Given the description of an element on the screen output the (x, y) to click on. 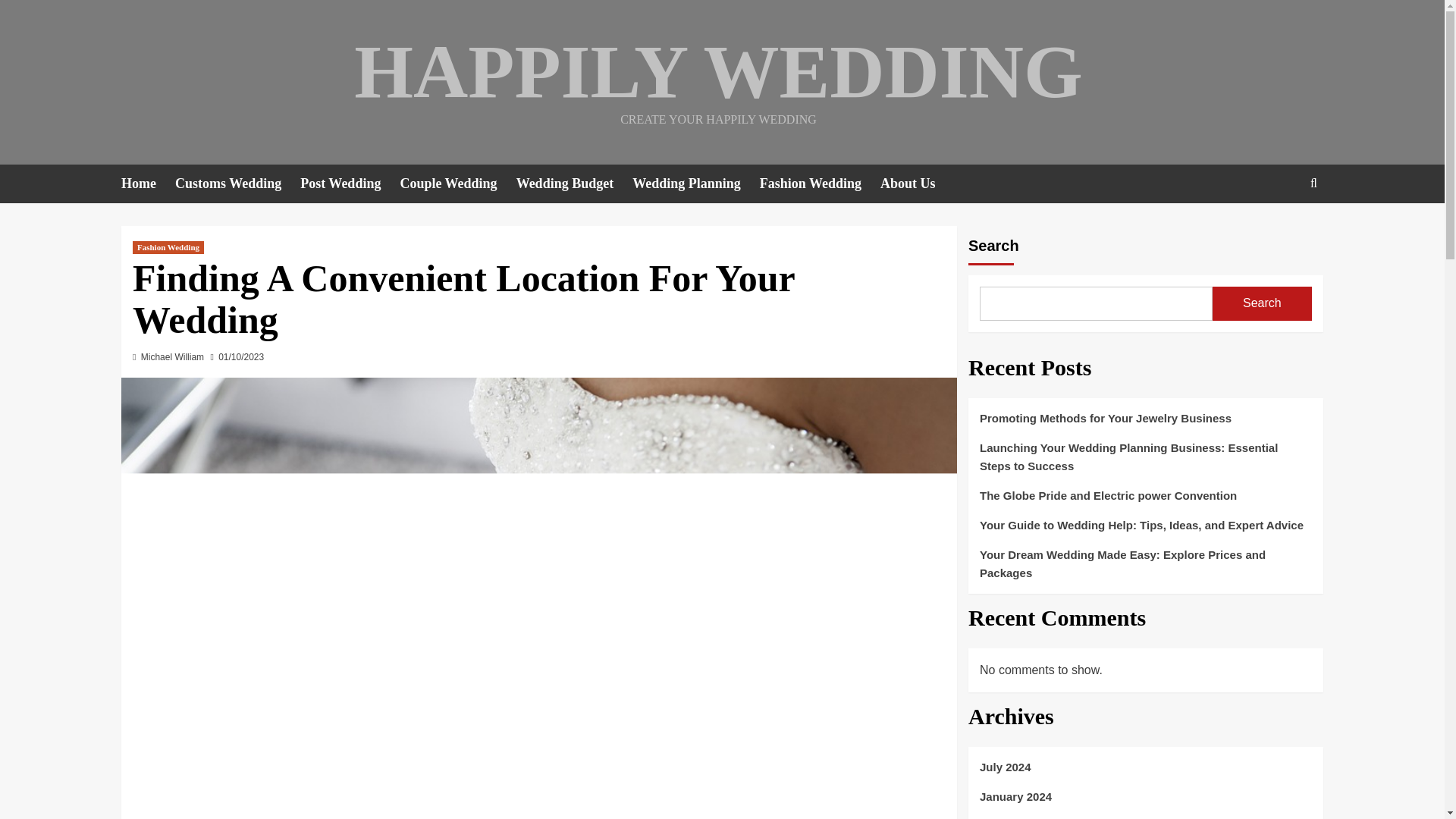
Couple Wedding (456, 183)
Customs Wedding (236, 183)
Wedding Planning (695, 183)
HAPPILY WEDDING (717, 71)
Search (1278, 229)
Fashion Wedding (820, 183)
Post Wedding (348, 183)
Home (147, 183)
About Us (917, 183)
Fashion Wedding (167, 246)
Michael William (172, 357)
Wedding Budget (574, 183)
